Given the description of an element on the screen output the (x, y) to click on. 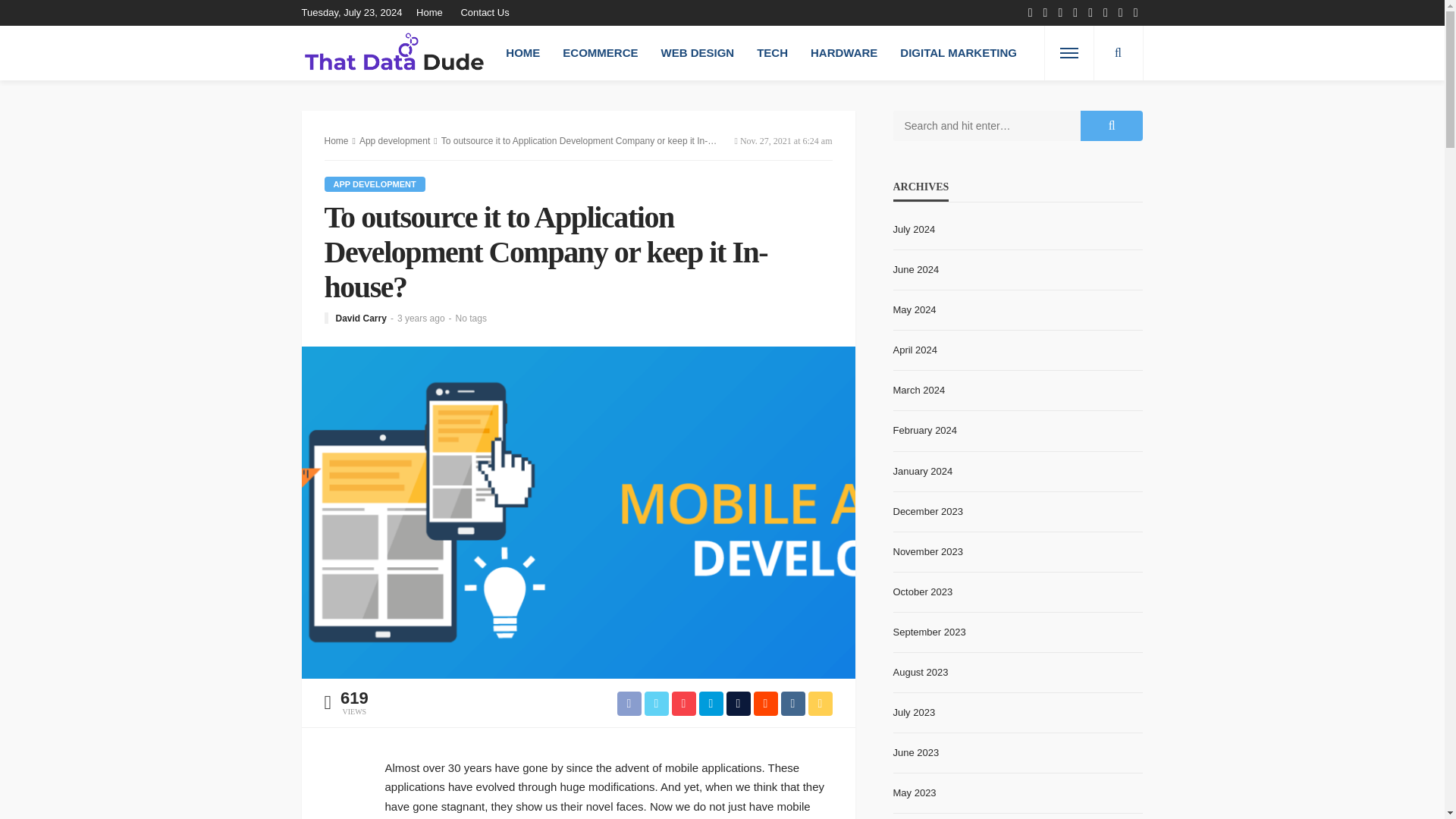
Search for: (986, 125)
App development (374, 183)
that datadude (394, 52)
Contact Us (484, 12)
ECOMMERCE (600, 52)
David Carry (359, 317)
HARDWARE (843, 52)
WEB DESIGN (697, 52)
App development (394, 140)
HOME (523, 52)
Home (336, 140)
TECH (772, 52)
Home (432, 12)
APP DEVELOPMENT (374, 183)
DIGITAL MARKETING (957, 52)
